Given the description of an element on the screen output the (x, y) to click on. 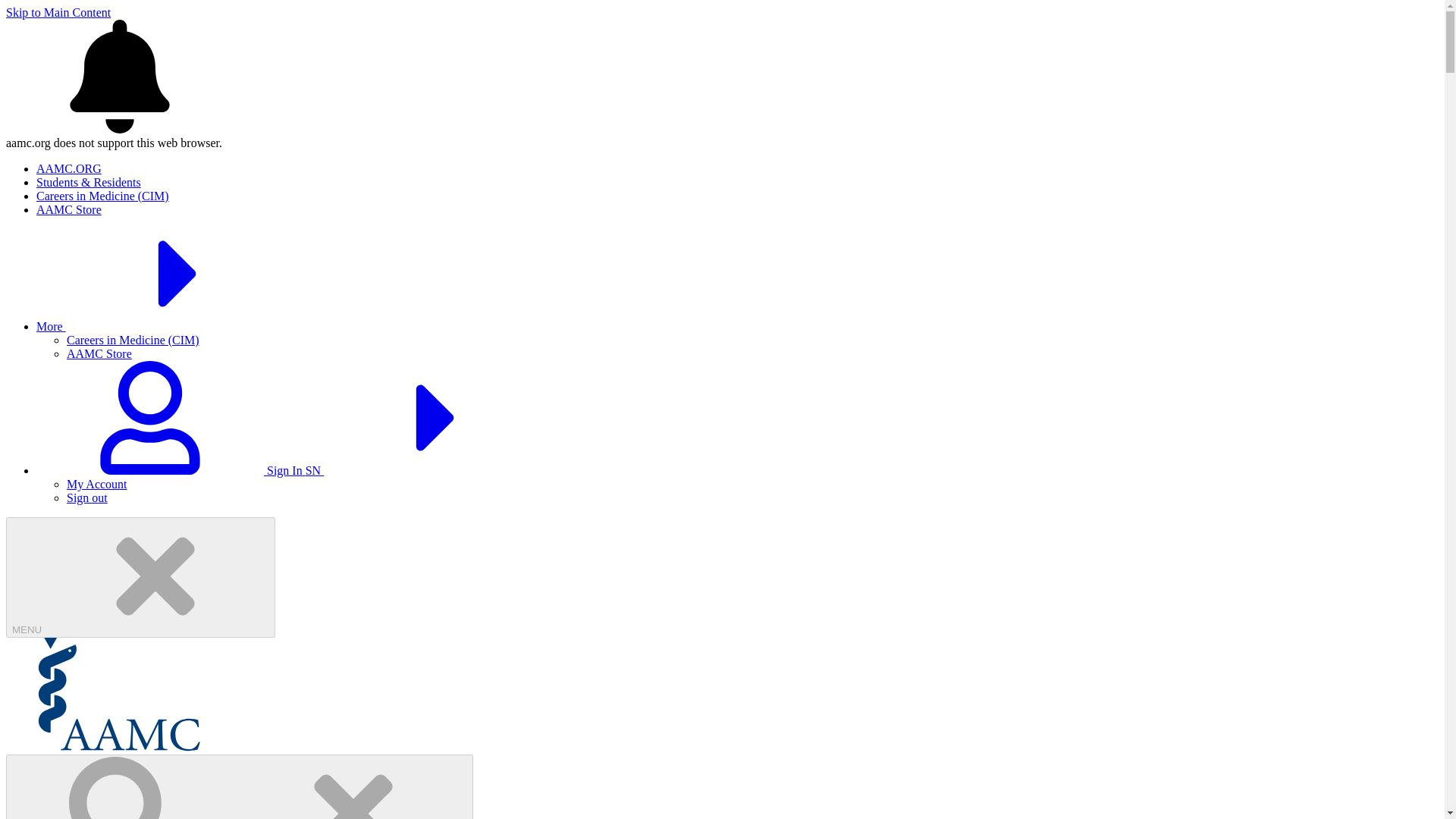
Sign out (86, 497)
AAMC (118, 747)
AAMC Store (99, 353)
AAMC Store (68, 209)
More (165, 326)
My Account (97, 483)
Skip to Main Content (57, 11)
AAMC.ORG (68, 168)
MENU (140, 577)
Sign In SN (293, 470)
